Given the description of an element on the screen output the (x, y) to click on. 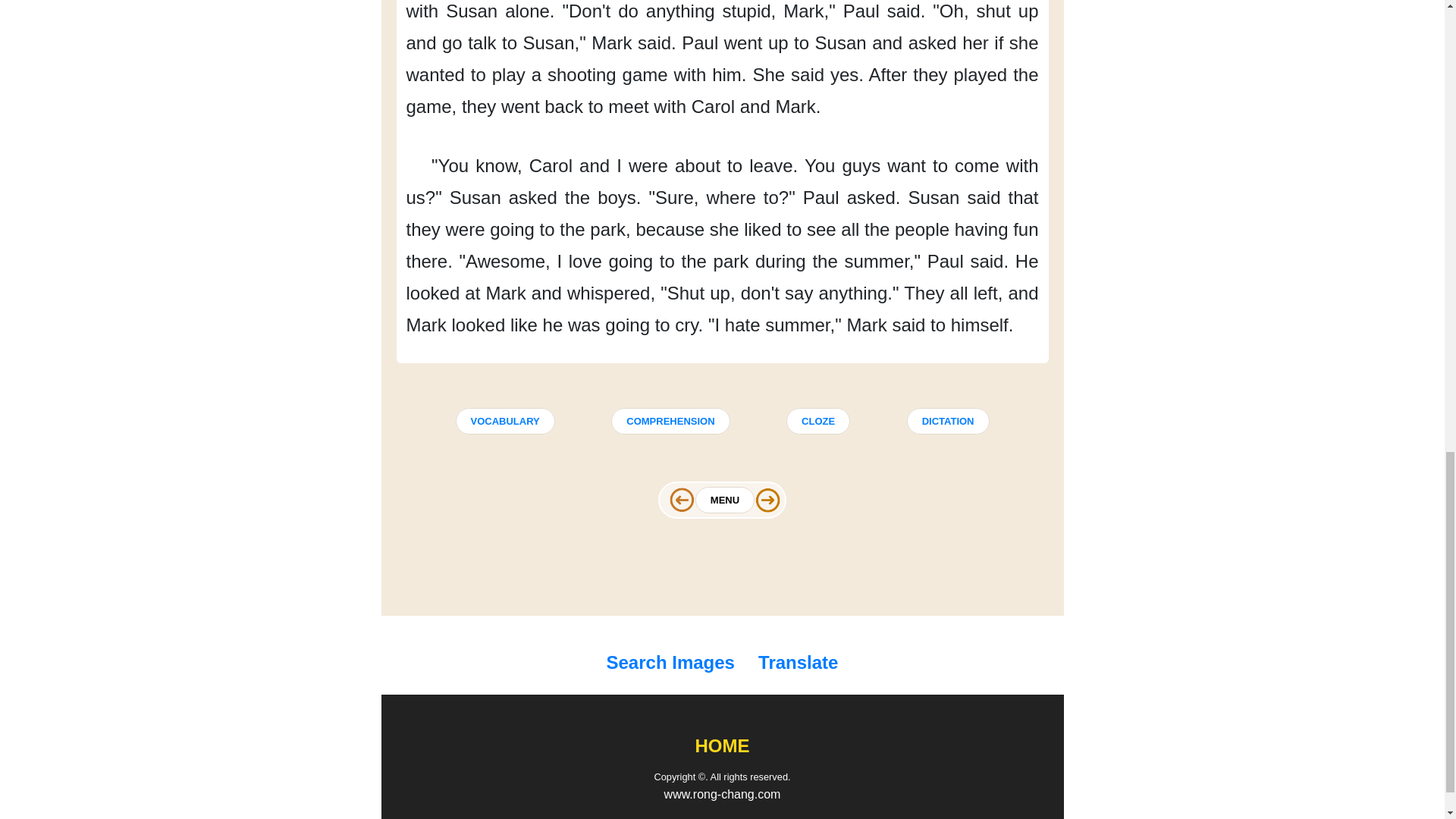
COMPREHENSION (670, 420)
VOCABULARY (504, 420)
HOME (721, 746)
CLOZE (818, 420)
Translate (795, 664)
DICTATION (948, 420)
Search Images (673, 664)
MENU (724, 499)
